Given the description of an element on the screen output the (x, y) to click on. 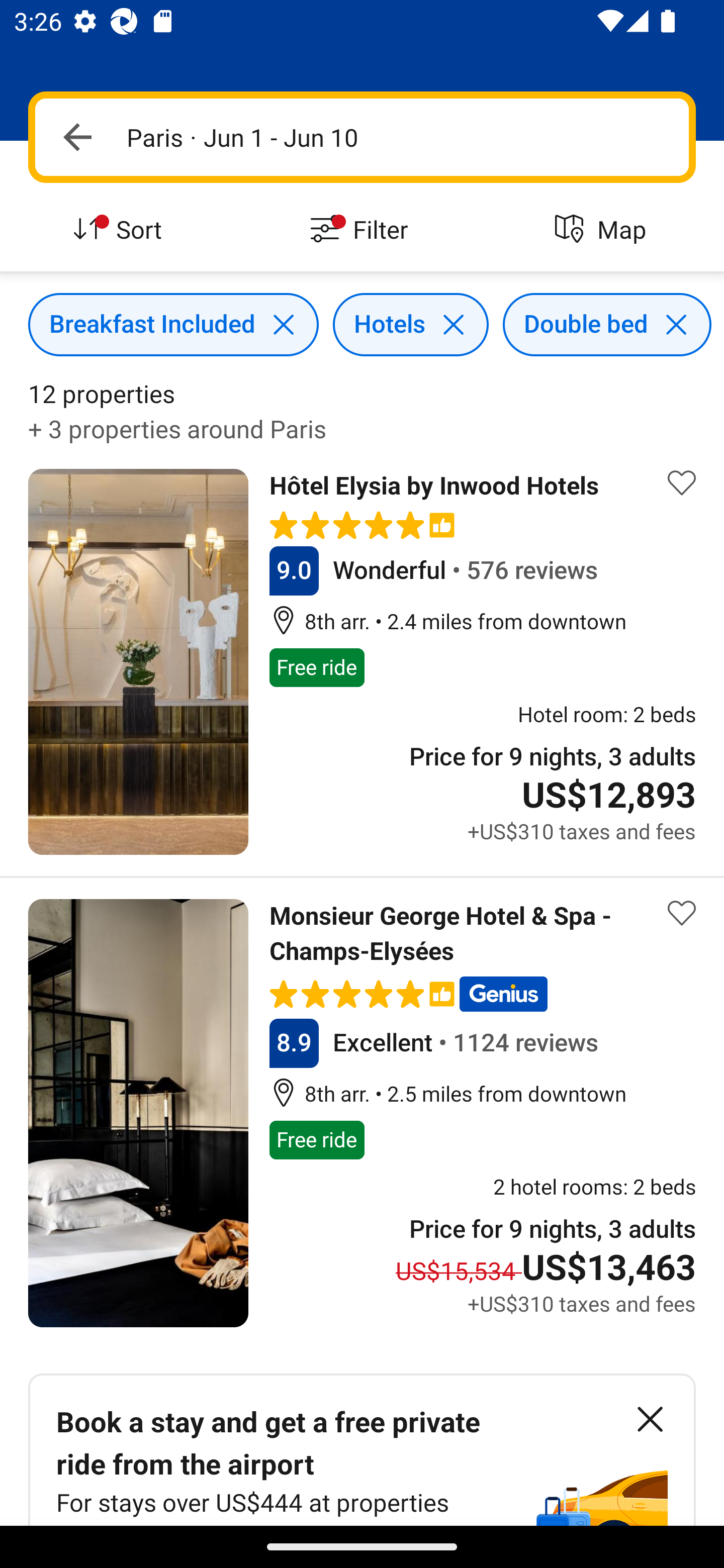
Navigate up Paris · Jun 1 - Jun 10 (362, 136)
Navigate up (77, 136)
Sort (120, 230)
Filter (361, 230)
Map (603, 230)
Save property to list (681, 482)
Save property to list (681, 912)
Dismiss banner button (650, 1418)
